Given the description of an element on the screen output the (x, y) to click on. 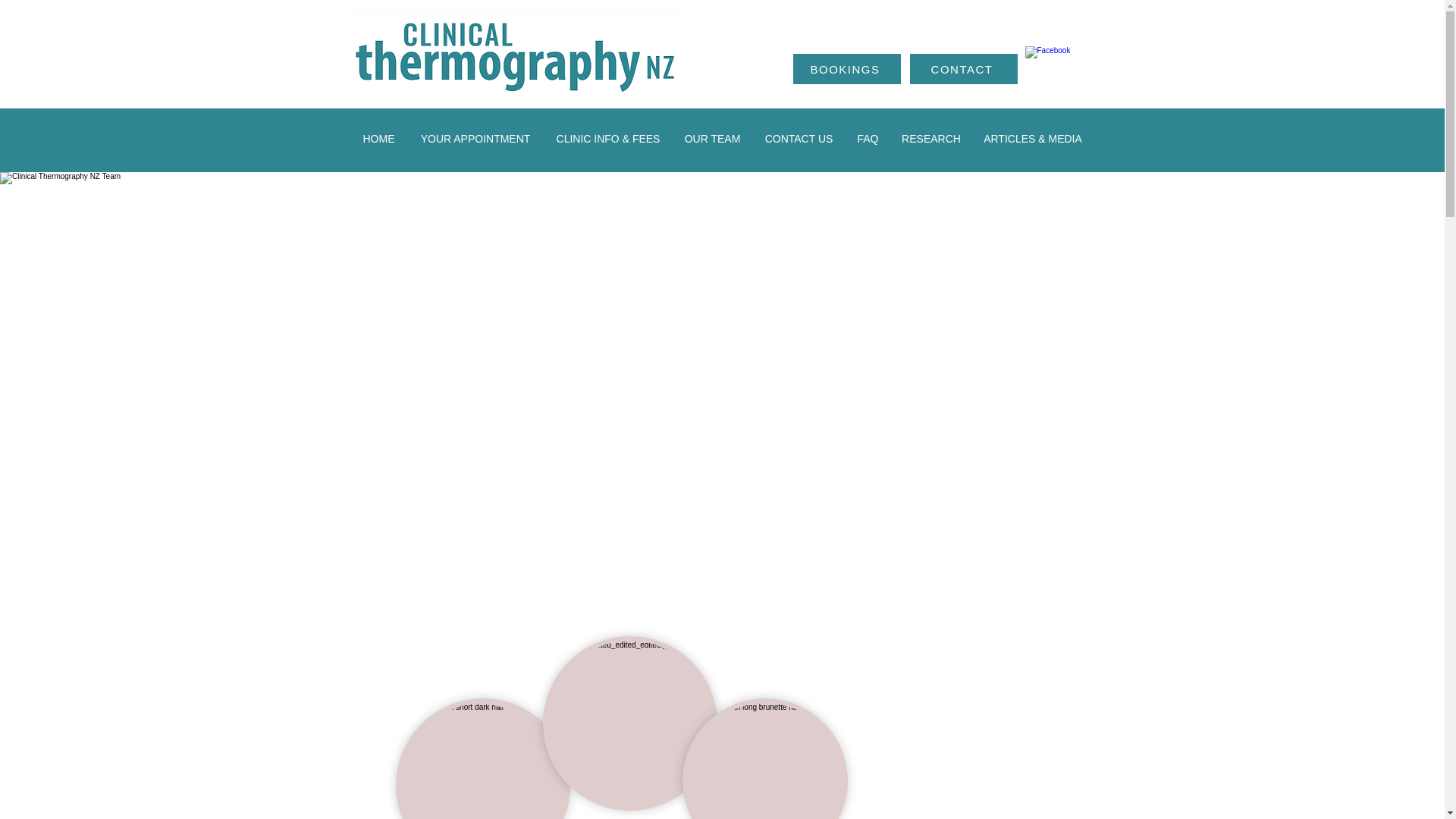
CONTACT (963, 69)
BOOKINGS (847, 69)
HOME (378, 138)
RESEARCH (930, 138)
OUR TEAM (711, 138)
CONTACT US (798, 138)
FAQ (866, 138)
